Given the description of an element on the screen output the (x, y) to click on. 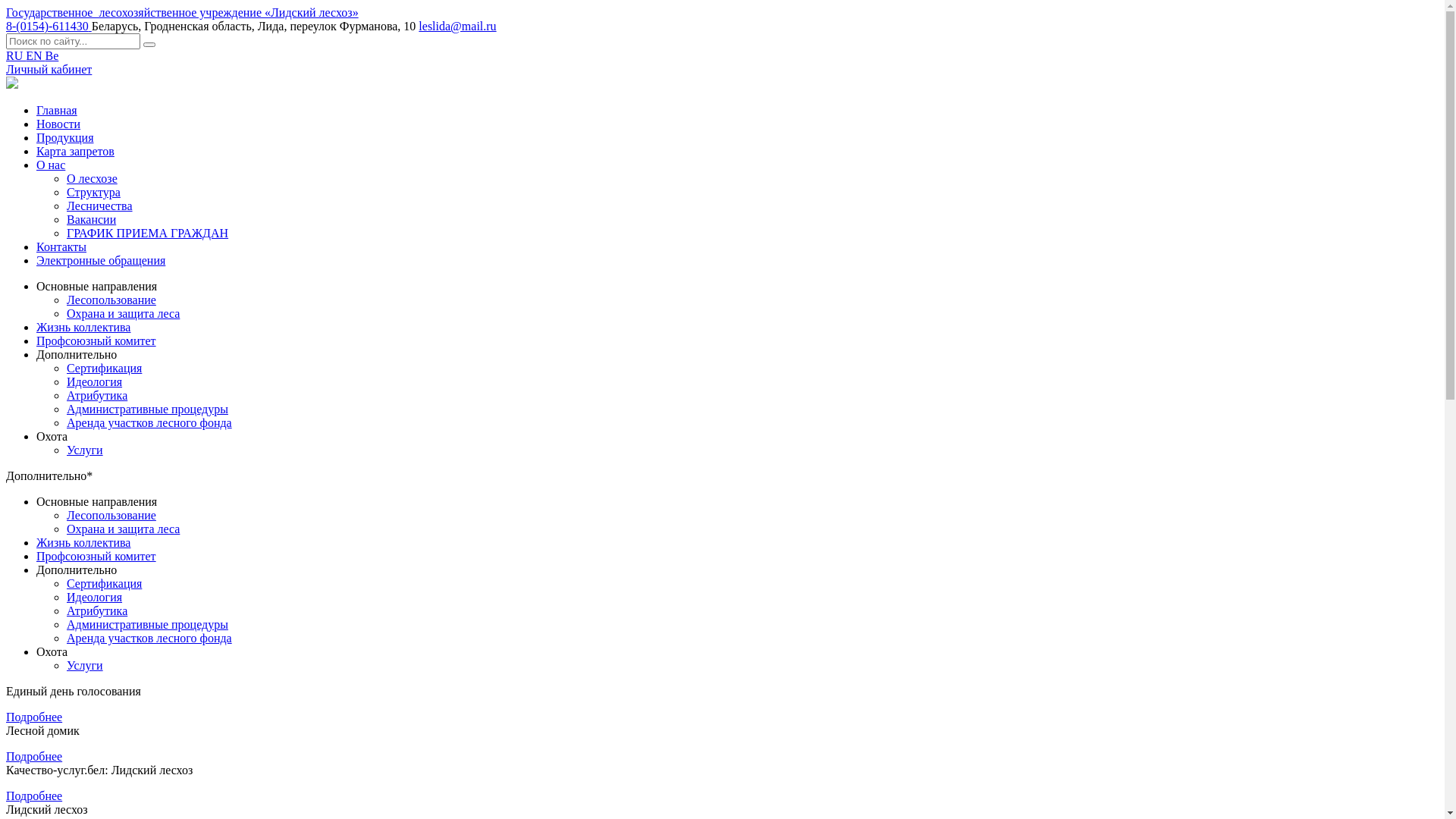
leslida@mail.ru Element type: text (456, 25)
Be Element type: text (52, 55)
8-(0154)-611430 Element type: text (48, 25)
RU Element type: text (15, 55)
EN Element type: text (34, 55)
